Given the description of an element on the screen output the (x, y) to click on. 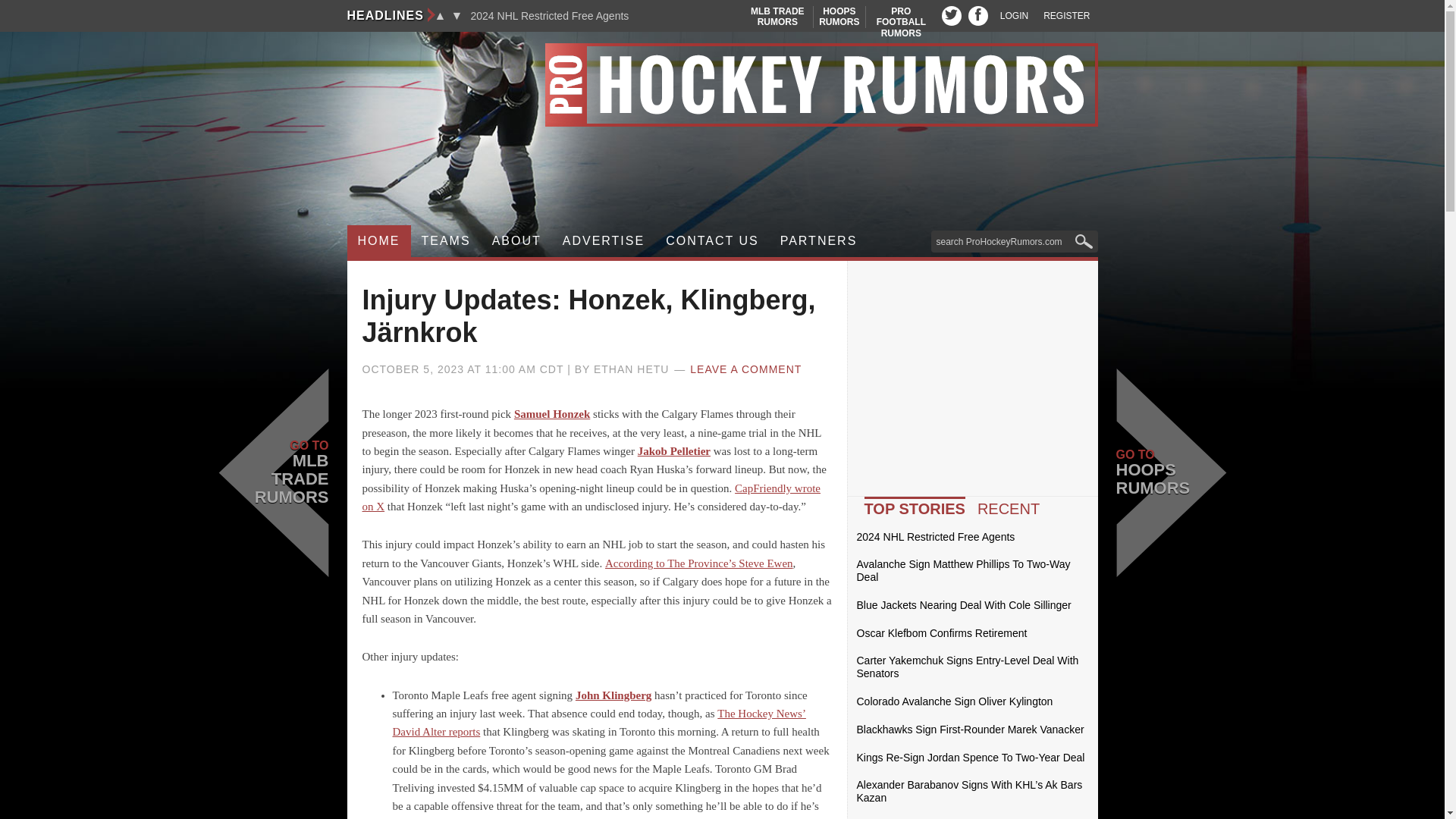
HOME (901, 21)
LOGIN (777, 16)
Search (378, 241)
Twitter profile (1013, 15)
Pro Hockey Rumors (951, 15)
Previous (549, 15)
Next (722, 84)
